Given the description of an element on the screen output the (x, y) to click on. 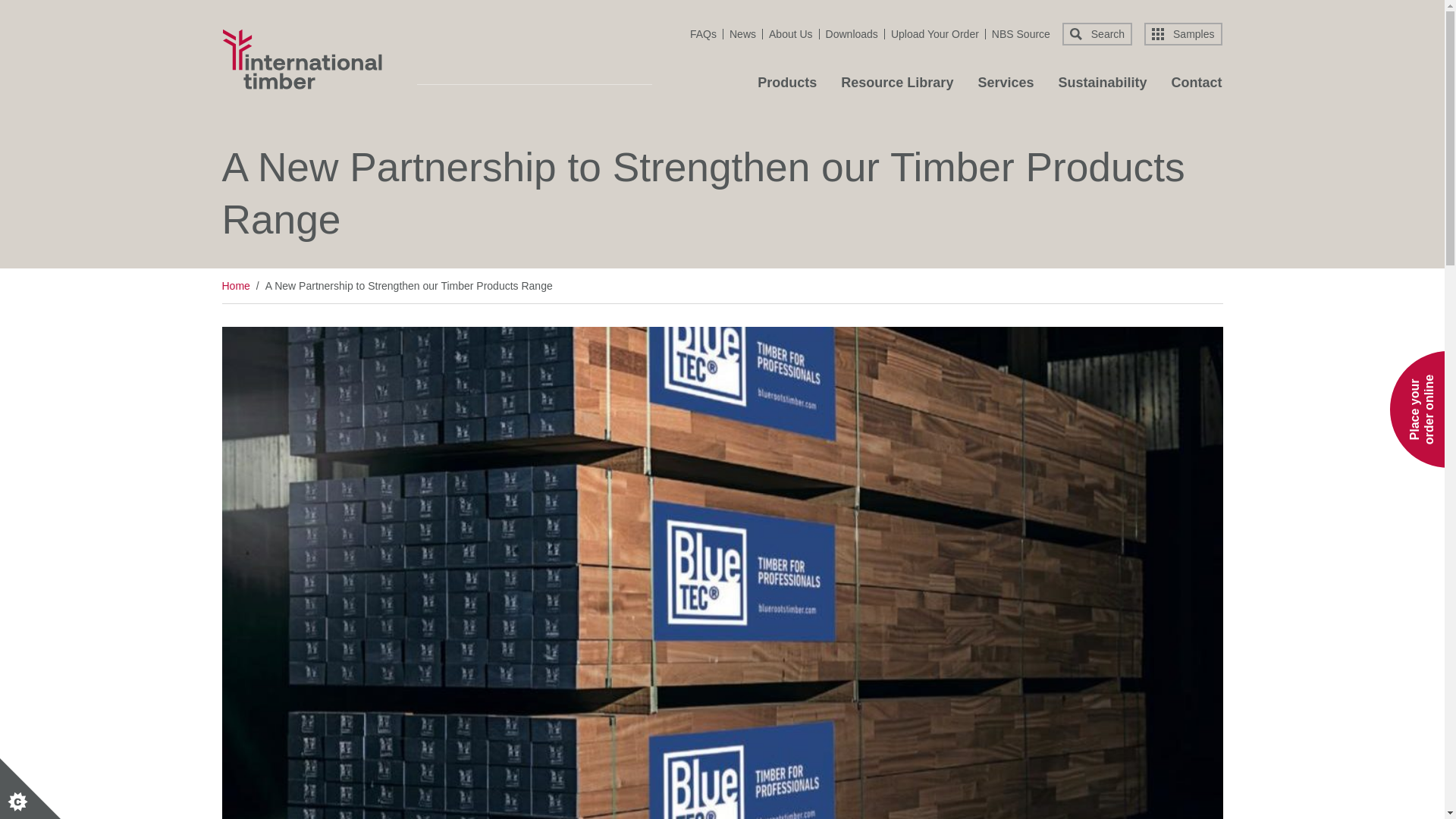
Home (301, 58)
Home (234, 285)
Resource Library (897, 85)
Sustainability (1102, 85)
Upload Your Order (938, 33)
News (745, 33)
Contact (1195, 85)
Products (786, 85)
Search (1097, 33)
FAQs (706, 33)
